Given the description of an element on the screen output the (x, y) to click on. 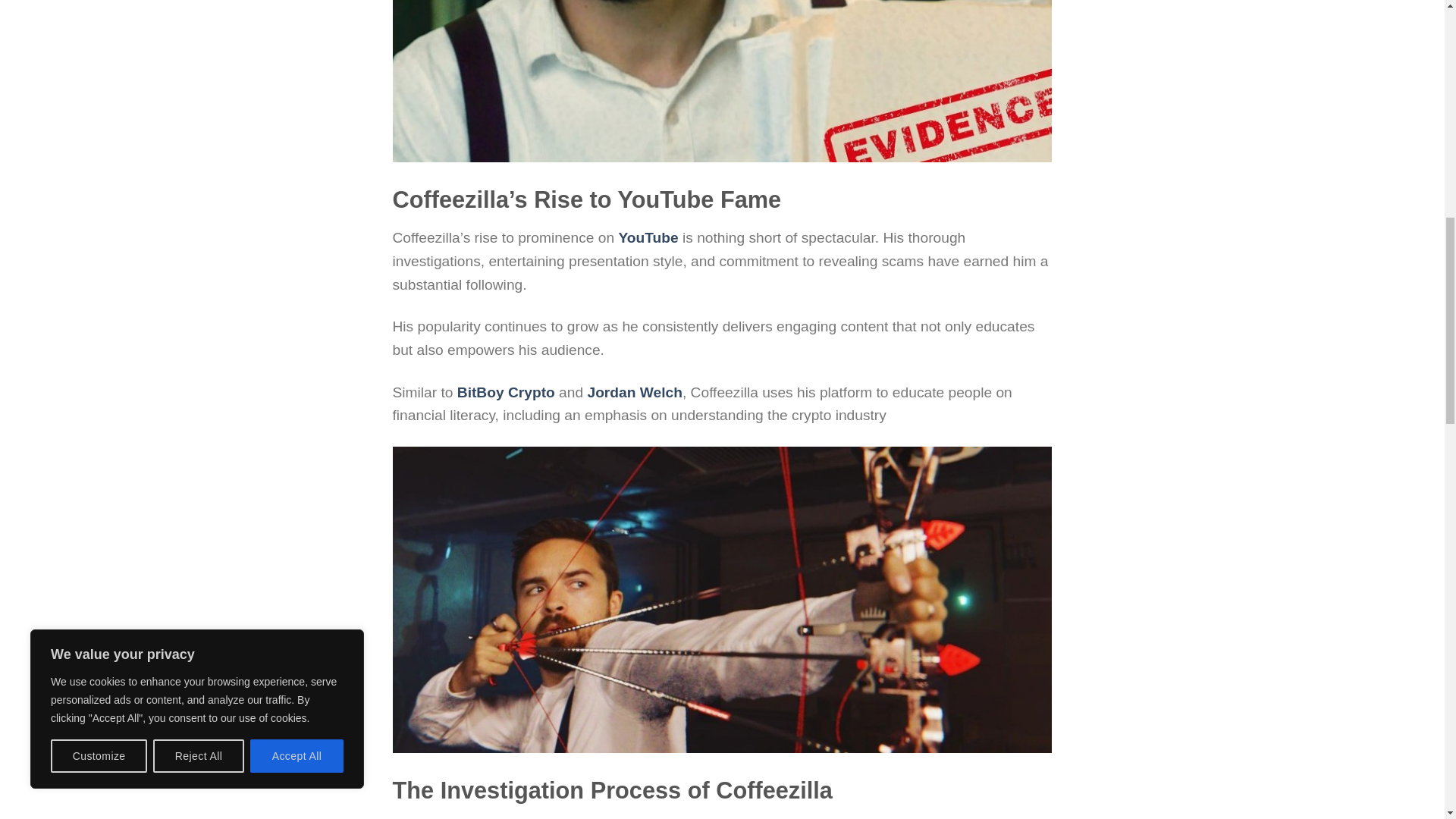
BitBoy Crypto (505, 392)
Jordan Welch (633, 392)
YouTube (647, 237)
